Given the description of an element on the screen output the (x, y) to click on. 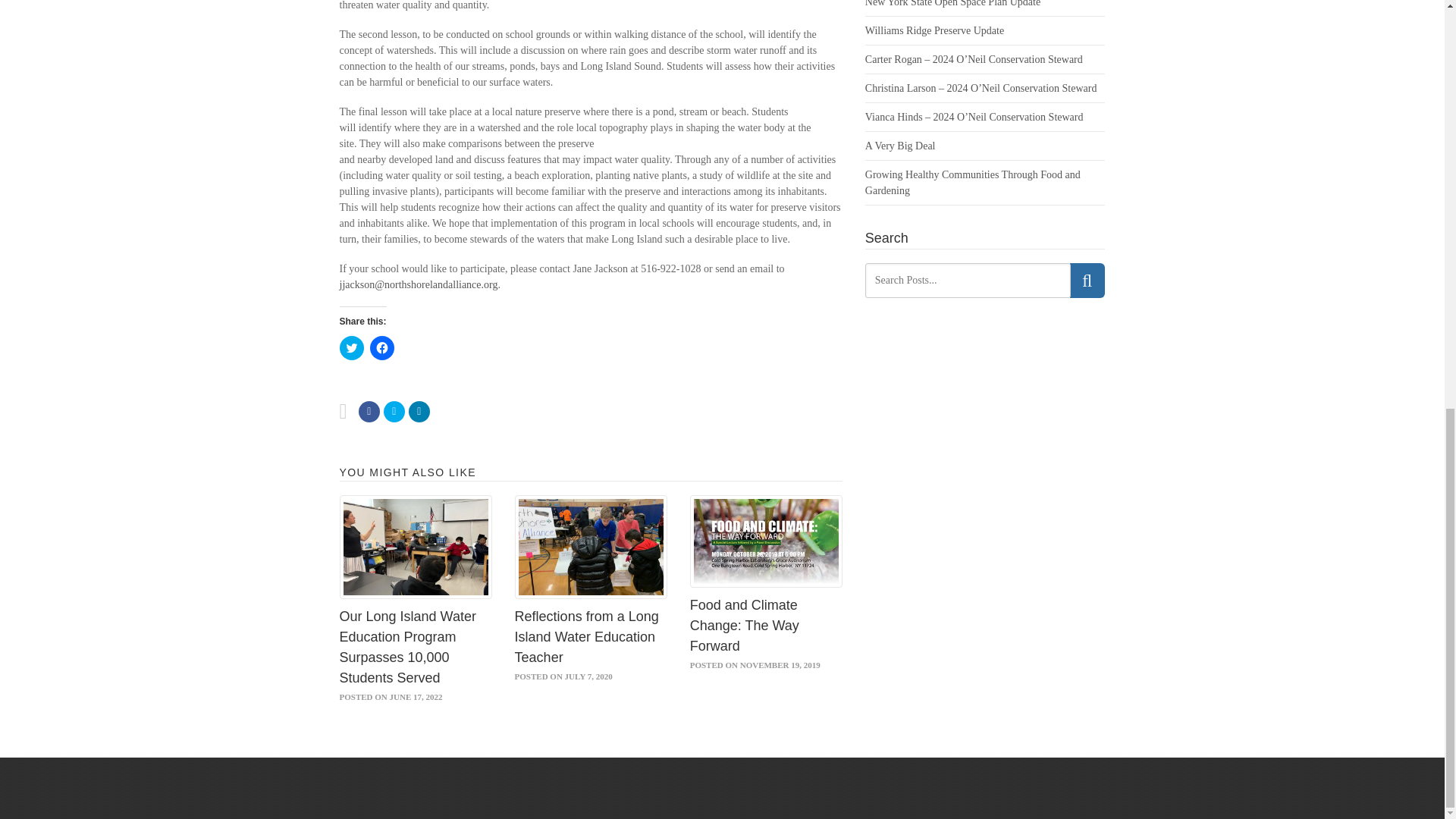
Share on Facebook (369, 411)
Click to share on Twitter (351, 347)
Email (419, 411)
Tweet (394, 411)
Click to share on Facebook (381, 347)
